Given the description of an element on the screen output the (x, y) to click on. 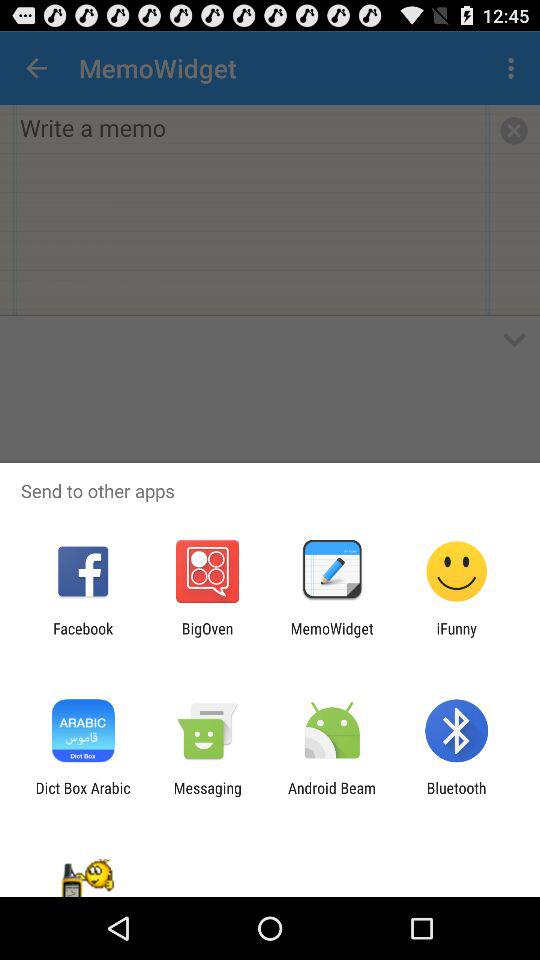
scroll to ifunny (456, 637)
